Given the description of an element on the screen output the (x, y) to click on. 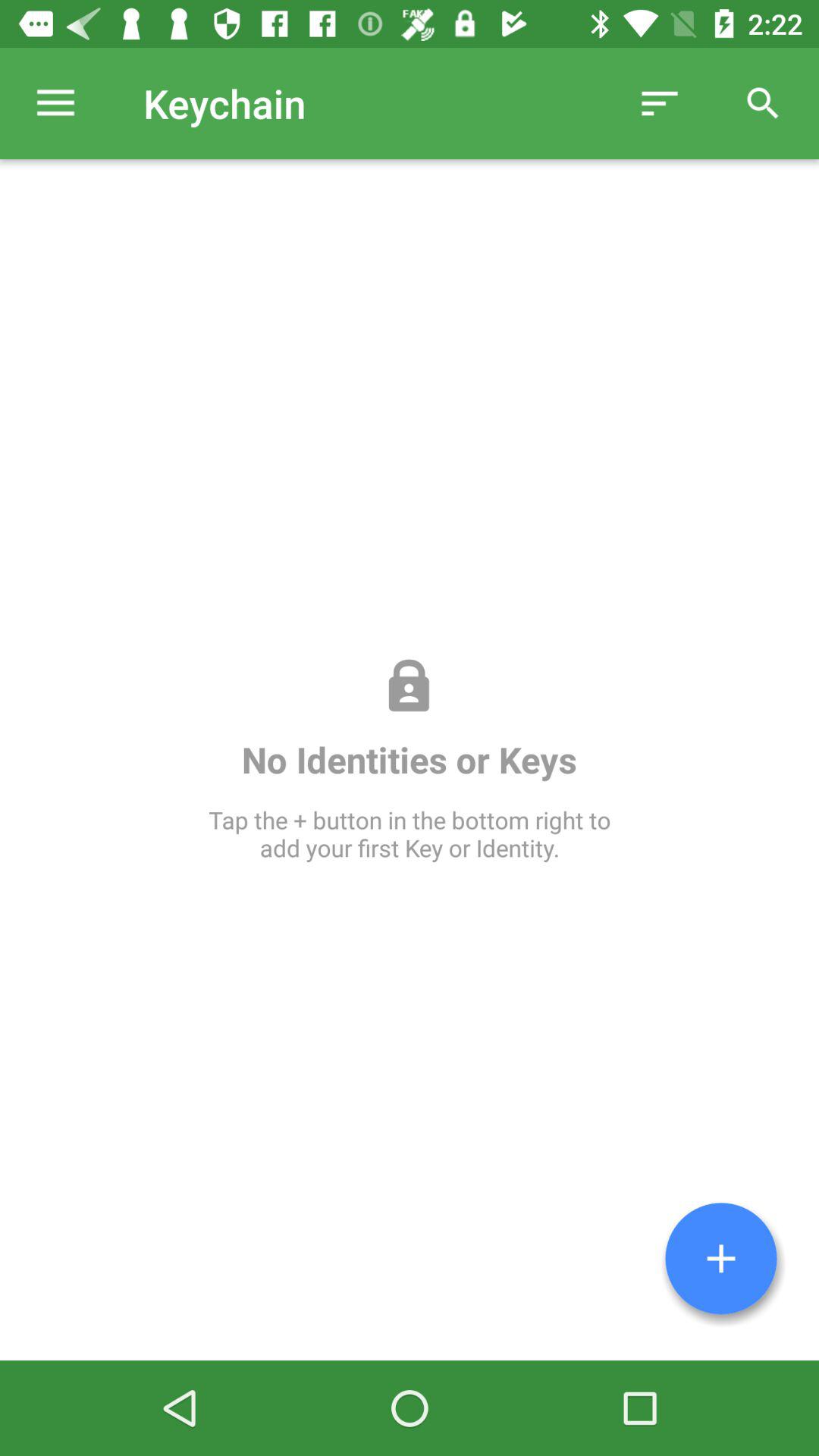
add icon (721, 1258)
